Given the description of an element on the screen output the (x, y) to click on. 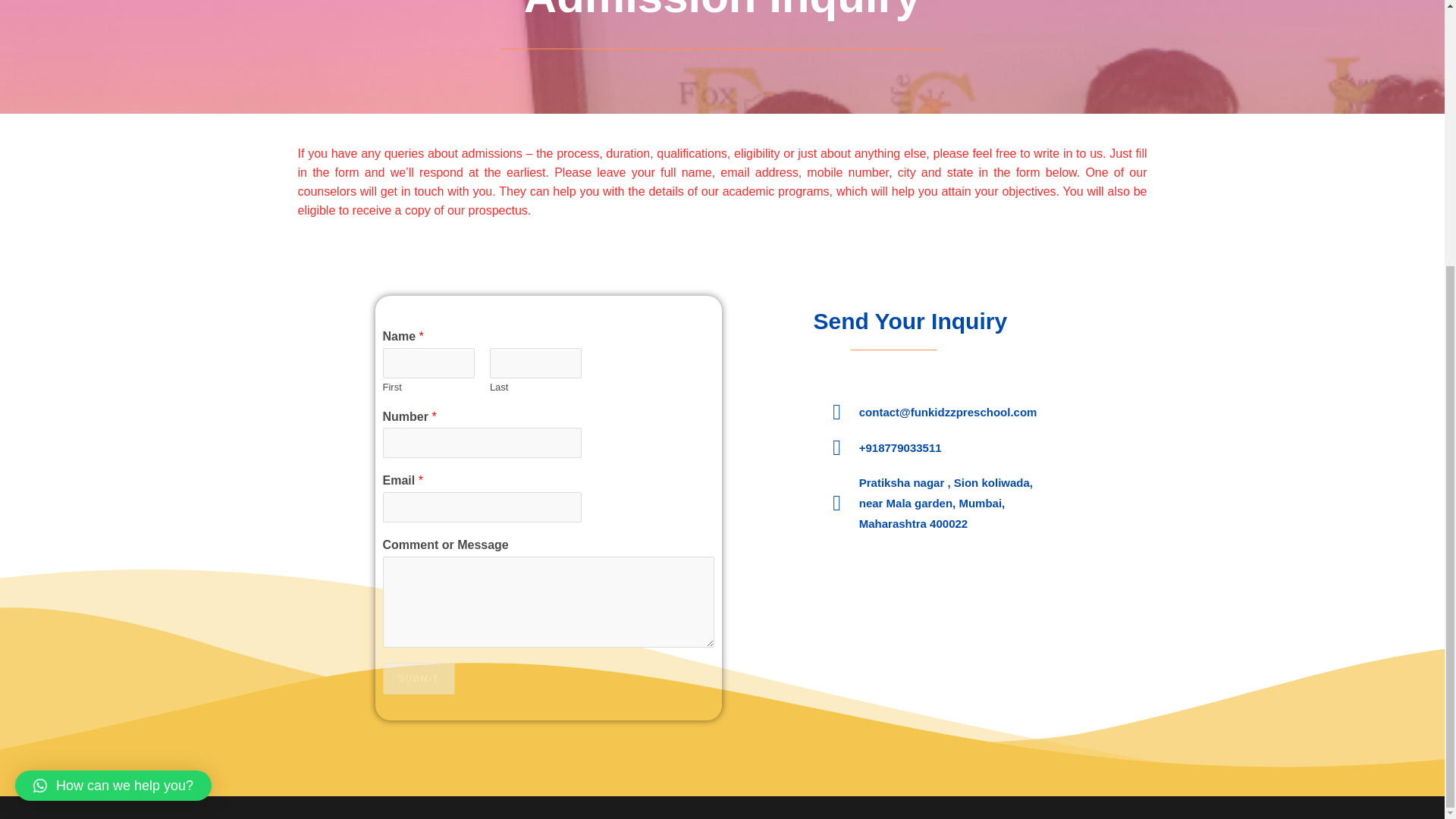
How can we help you? (112, 399)
SUBMIT (417, 678)
